Given the description of an element on the screen output the (x, y) to click on. 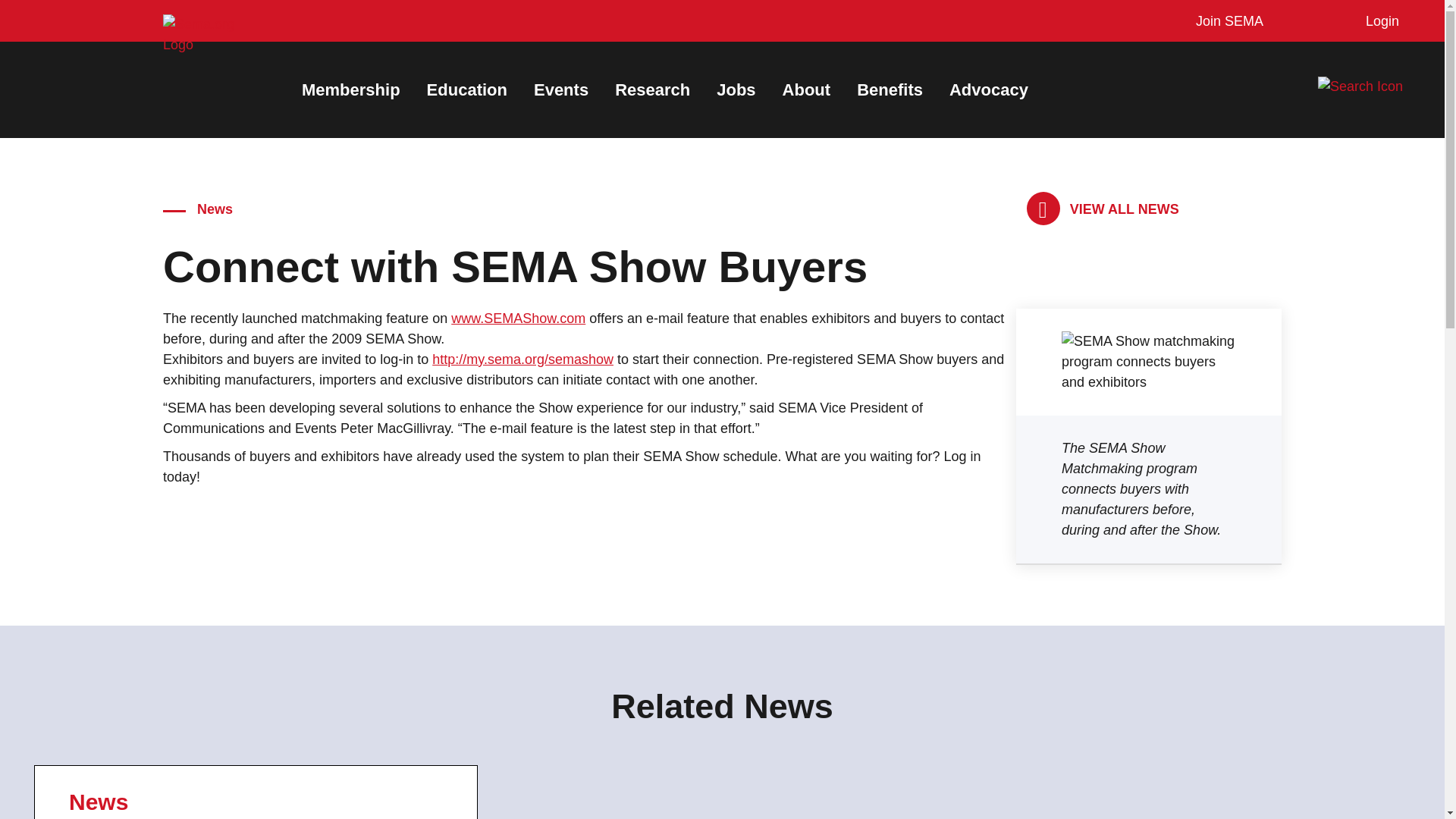
Login (1378, 20)
Search Sema.org (1373, 86)
Join SEMA (1225, 20)
Education (466, 89)
Benefits (889, 89)
www.SEMAShow.com (518, 318)
Research (652, 89)
eNews archive (1102, 209)
Events (560, 89)
Advocacy (988, 89)
About (807, 89)
Jobs (735, 89)
VIEW ALL NEWS (1102, 209)
Membership (350, 89)
